Given the description of an element on the screen output the (x, y) to click on. 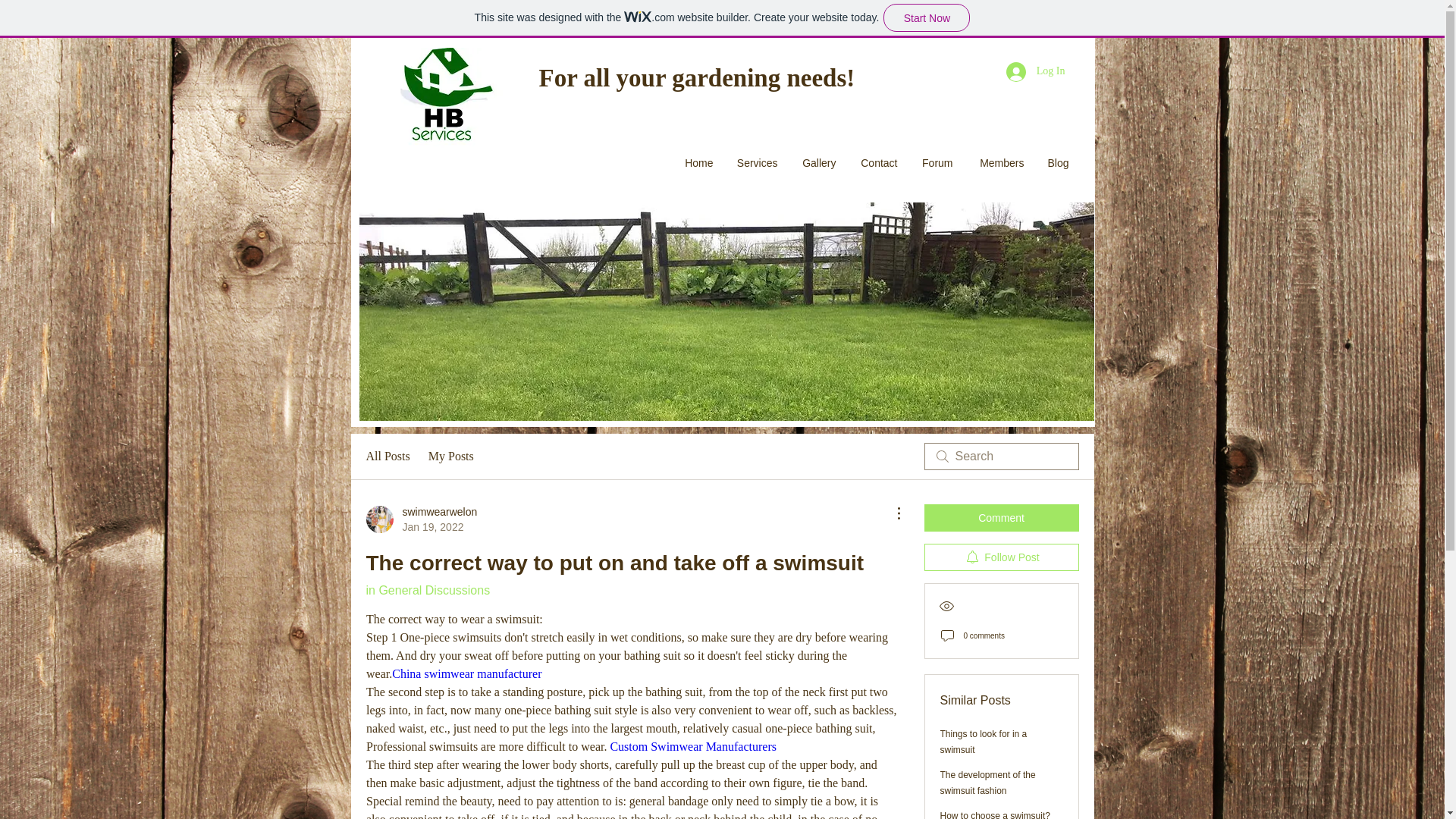
Gallery (818, 162)
in General Discussions (427, 590)
My Posts (421, 519)
Forum (451, 456)
The development of the swimsuit fashion (935, 162)
Contact (987, 782)
Members (877, 162)
Blog (999, 162)
Services (1057, 162)
How to choose a swimsuit? (757, 162)
Home (994, 814)
All Posts (697, 162)
Custom Swimwear Manufacturers (387, 456)
Comment (693, 746)
